Given the description of an element on the screen output the (x, y) to click on. 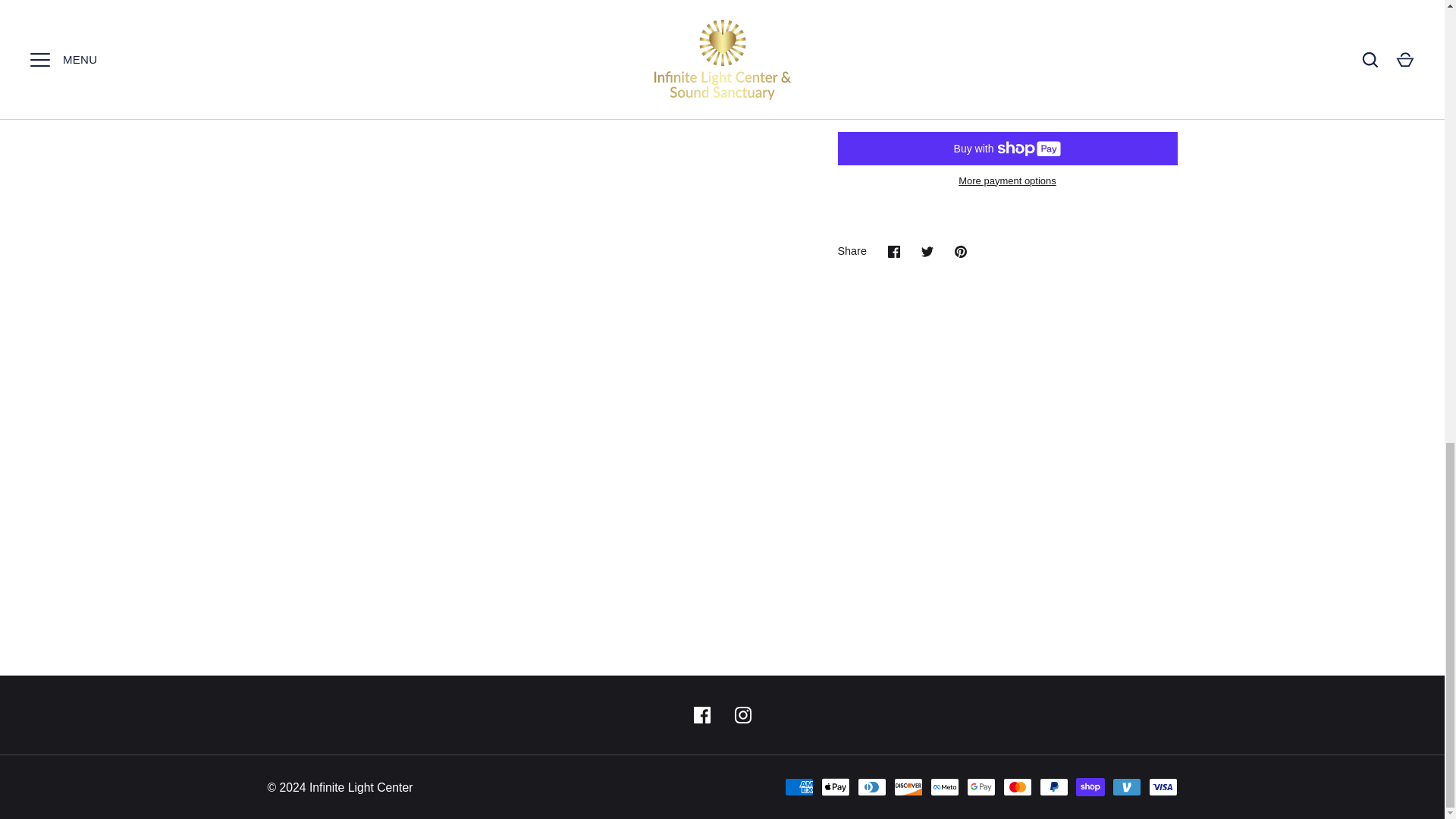
1 (883, 24)
